Given the description of an element on the screen output the (x, y) to click on. 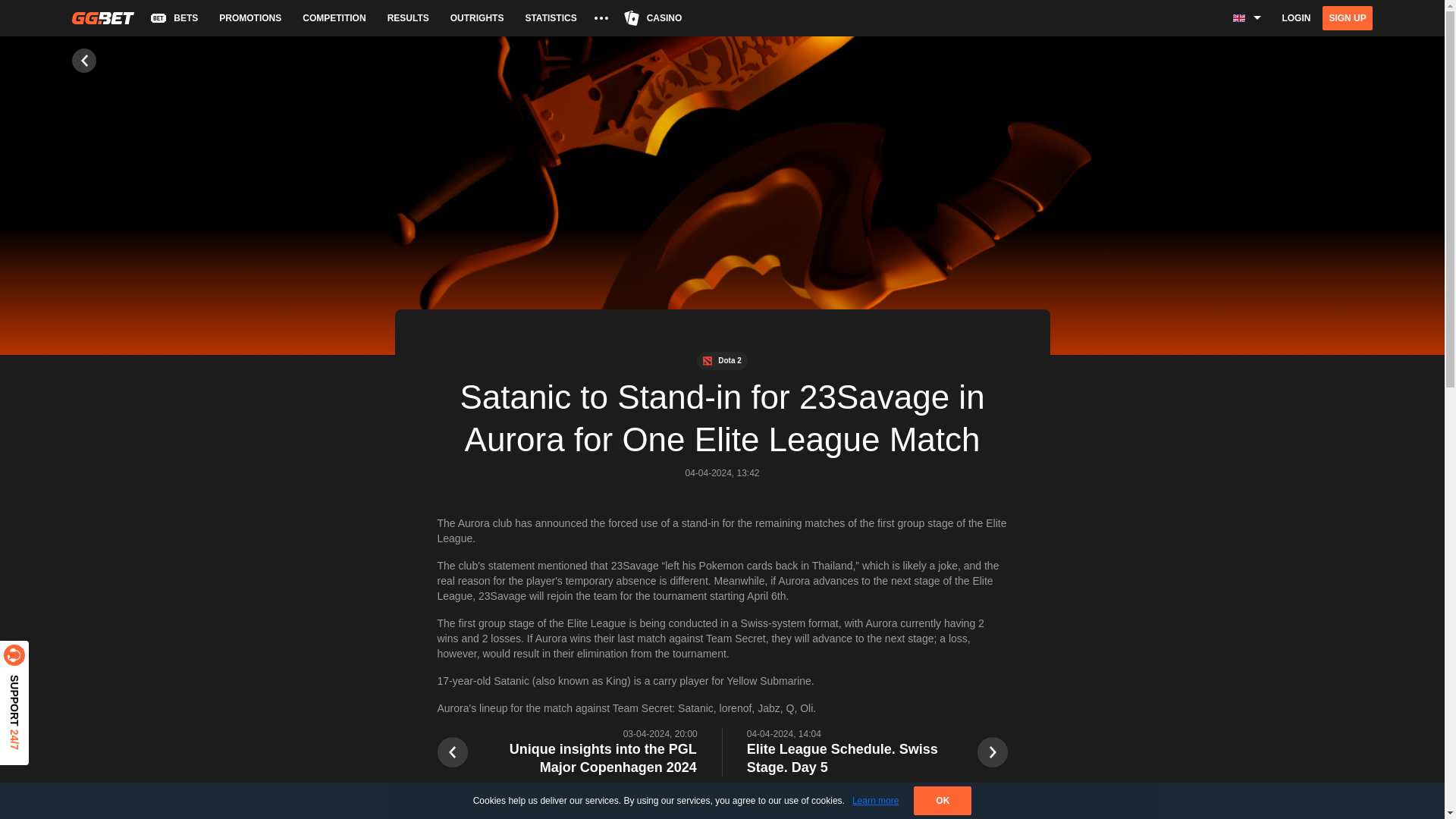
CASINO (654, 17)
PROMOTIONS (247, 17)
RESULTS (406, 17)
STATISTICS (548, 17)
COMPETITION (332, 17)
BETS (175, 17)
OUTRIGHTS (476, 17)
Elite League Schedule. Swiss Stage. Day 5 (855, 758)
Unique insights into the PGL Major Copenhagen 2024 (588, 758)
